Given the description of an element on the screen output the (x, y) to click on. 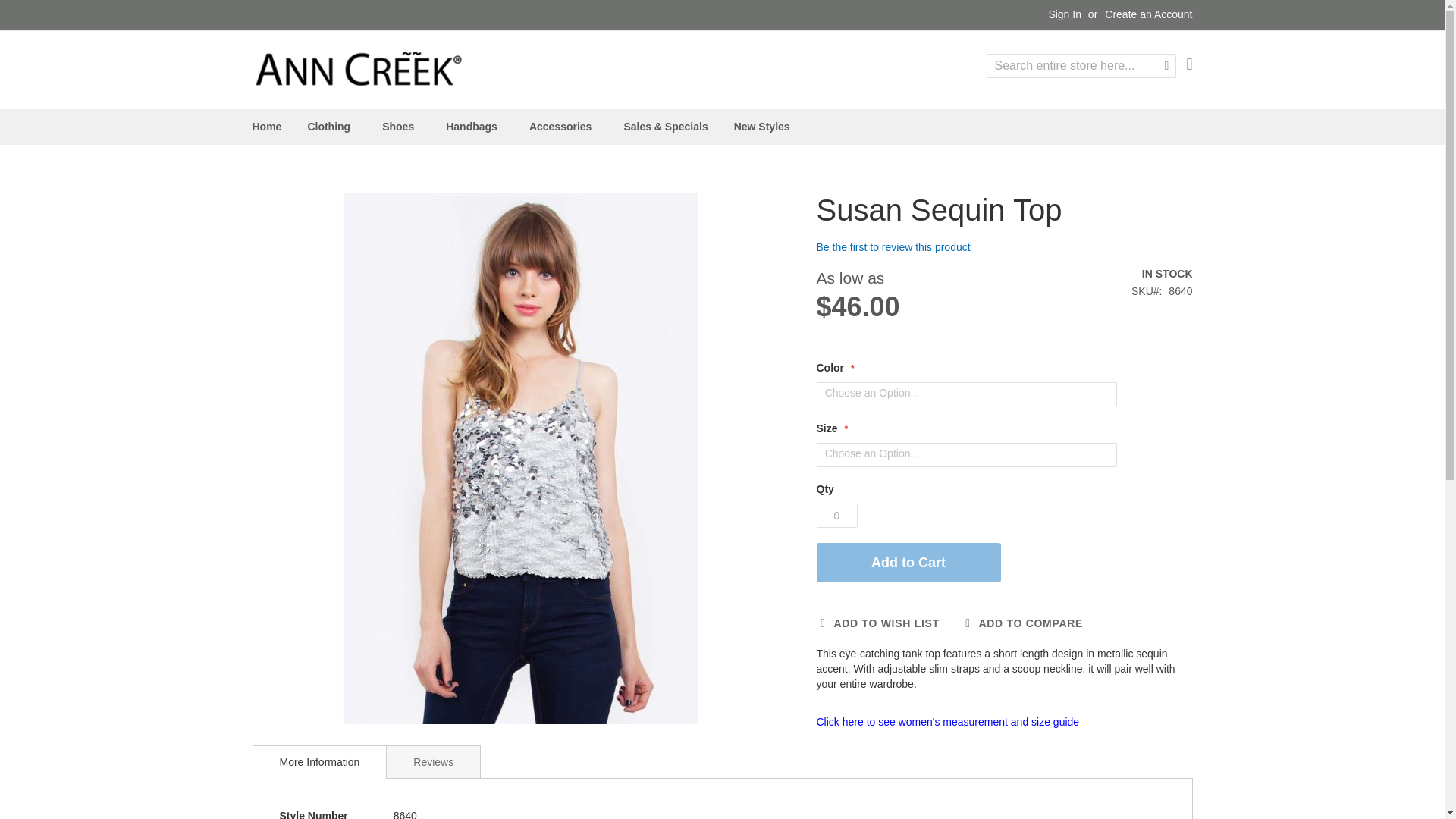
Ann Creek (357, 68)
Search (1166, 65)
Qty (836, 515)
Home (266, 126)
Create an Account (1148, 14)
Clothing (331, 126)
My Cart (1189, 64)
Sign In (1064, 14)
Availability (1161, 273)
Add to Cart (907, 562)
0 (836, 515)
Handbags (474, 126)
Search (1166, 65)
Shoes (400, 126)
